Given the description of an element on the screen output the (x, y) to click on. 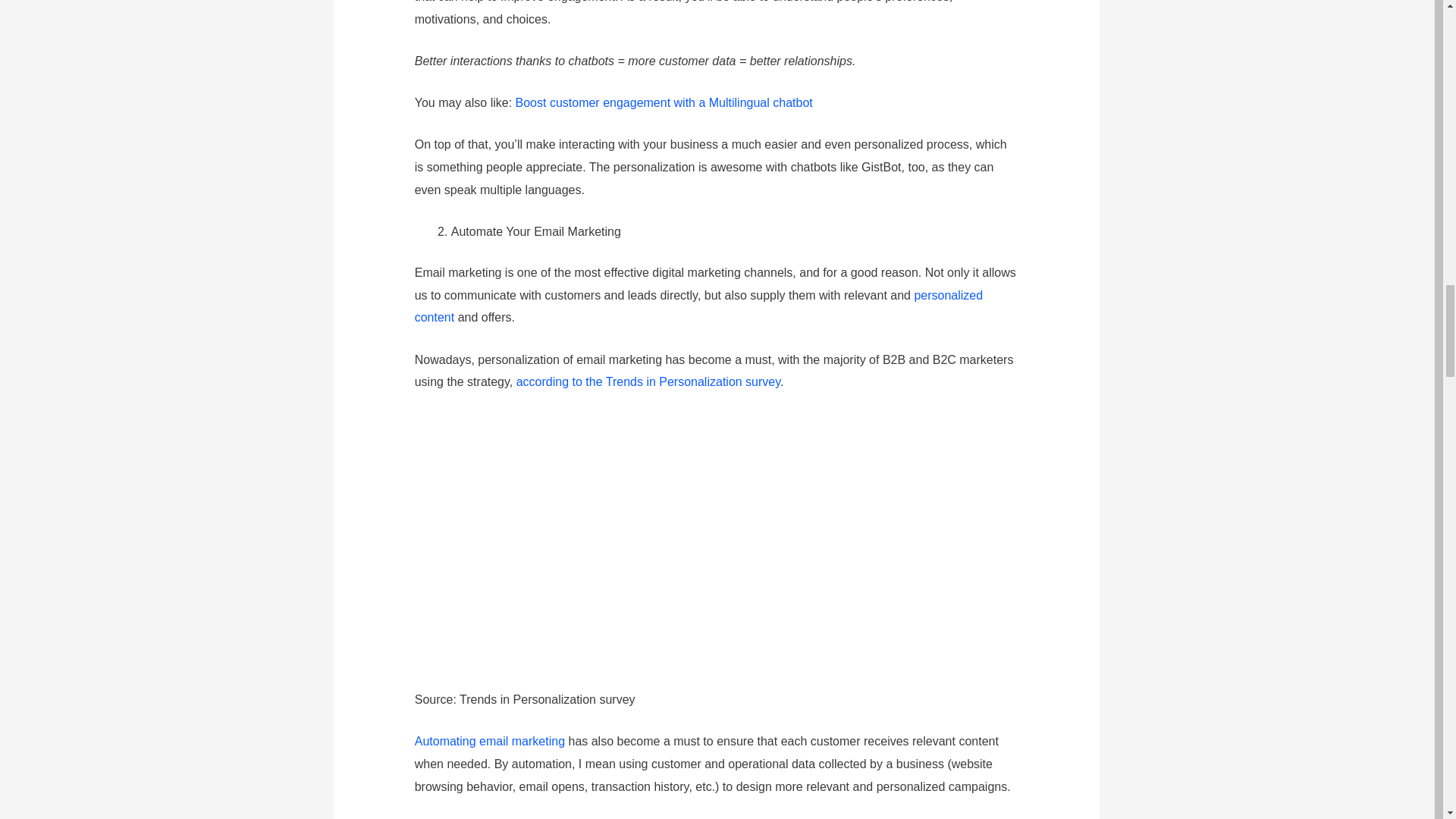
Automating email marketing (489, 740)
Boost customer engagement with a Multilingual chatbot (663, 102)
personalized content (698, 306)
according to the Trends in Personalization survey (648, 381)
